Given the description of an element on the screen output the (x, y) to click on. 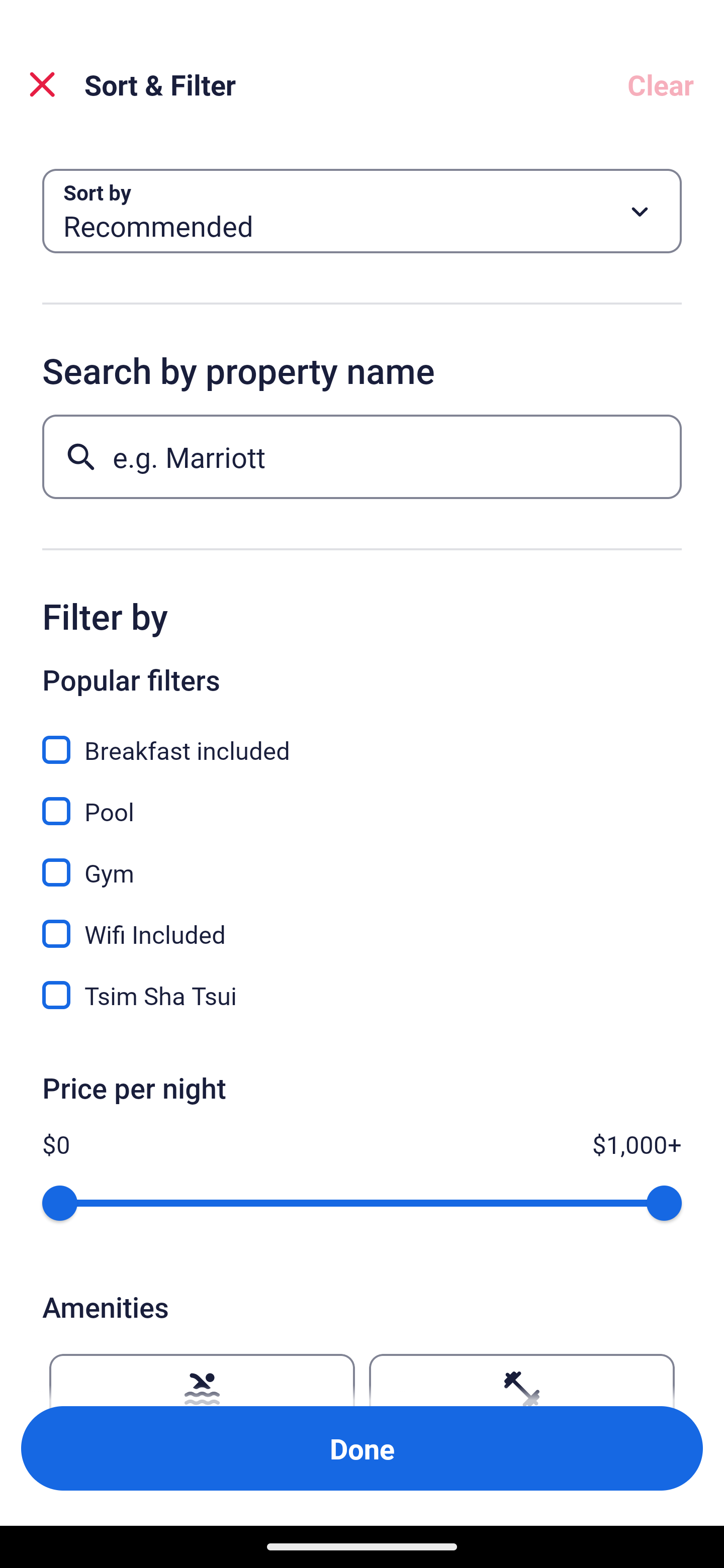
Close Sort and Filter (42, 84)
Clear (660, 84)
Sort by Button Recommended (361, 211)
e.g. Marriott Button (361, 455)
Breakfast included, Breakfast included (361, 738)
Pool, Pool (361, 800)
Gym, Gym (361, 861)
Wifi Included, Wifi Included (361, 922)
Tsim Sha Tsui, Tsim Sha Tsui (361, 995)
Apply and close Sort and Filter Done (361, 1448)
